Given the description of an element on the screen output the (x, y) to click on. 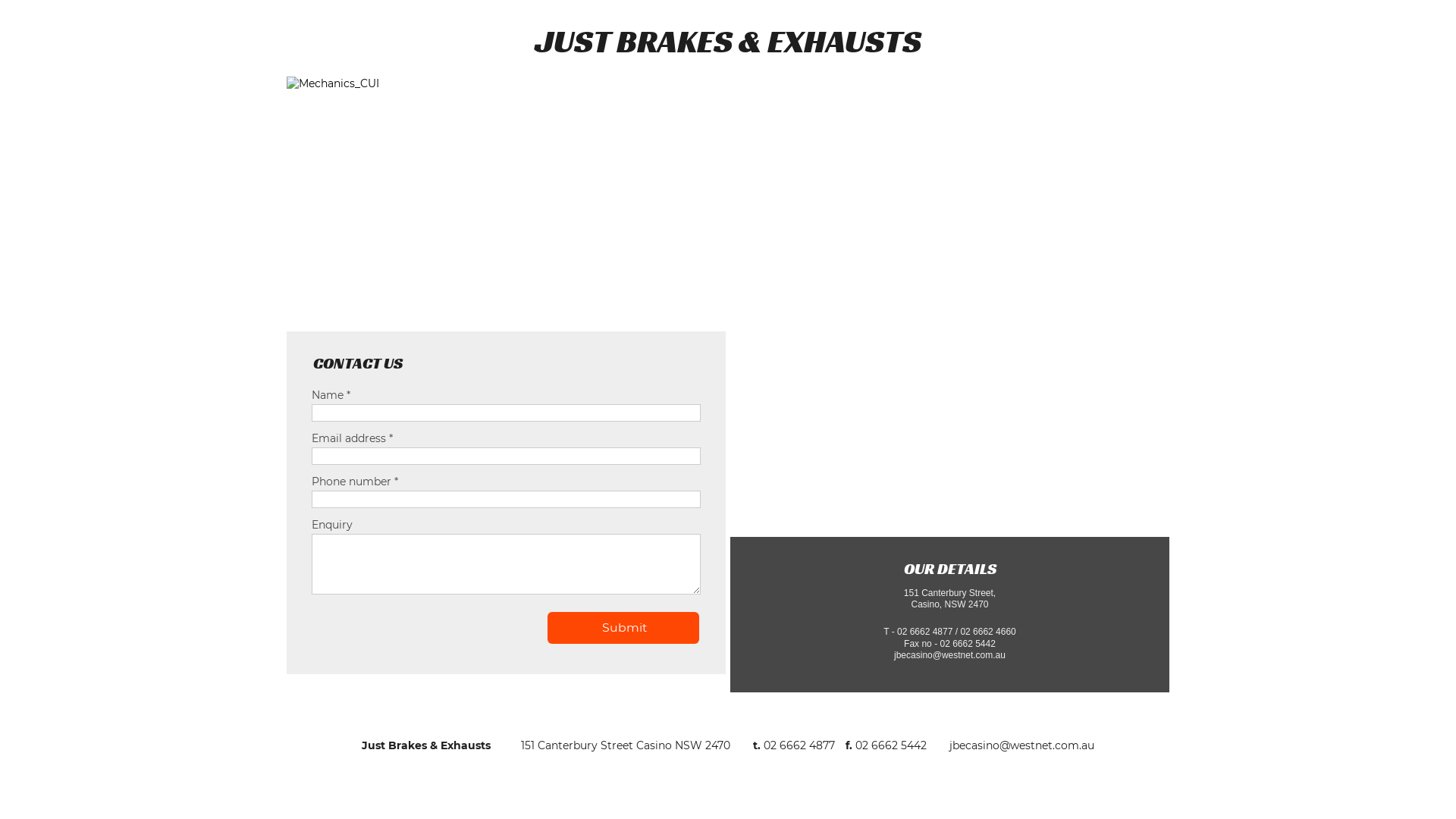
jbecasino@westnet.com.au Element type: text (1021, 745)
02 6662 4877 Element type: text (800, 745)
Privacy Policy Element type: text (727, 802)
02 6662 5442 Element type: text (890, 745)
Mechanics_CUI Element type: hover (727, 201)
Submit Element type: text (624, 627)
